Given the description of an element on the screen output the (x, y) to click on. 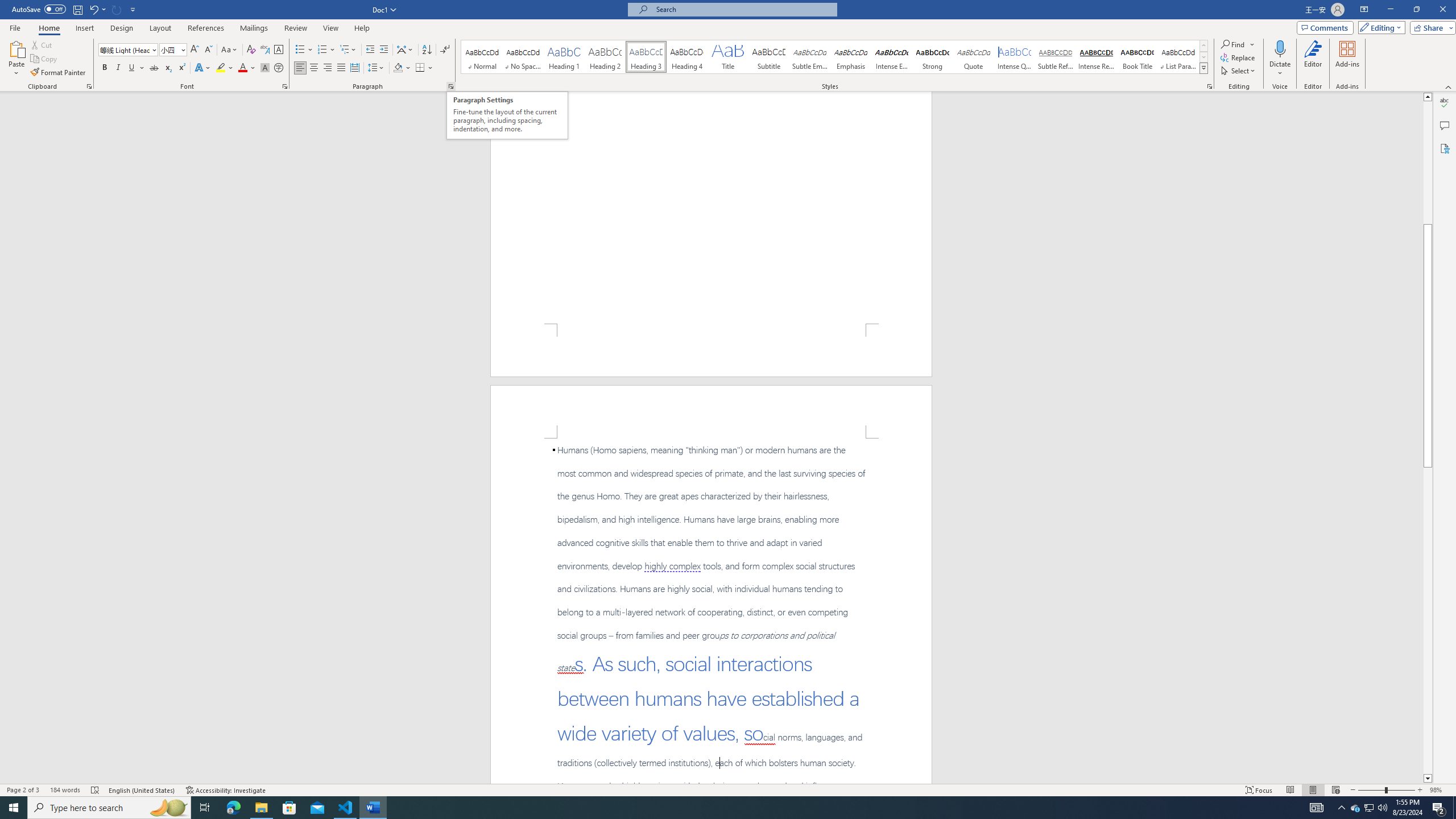
Multilevel List (347, 49)
Can't Repeat (117, 9)
Increase Indent (383, 49)
